Given the description of an element on the screen output the (x, y) to click on. 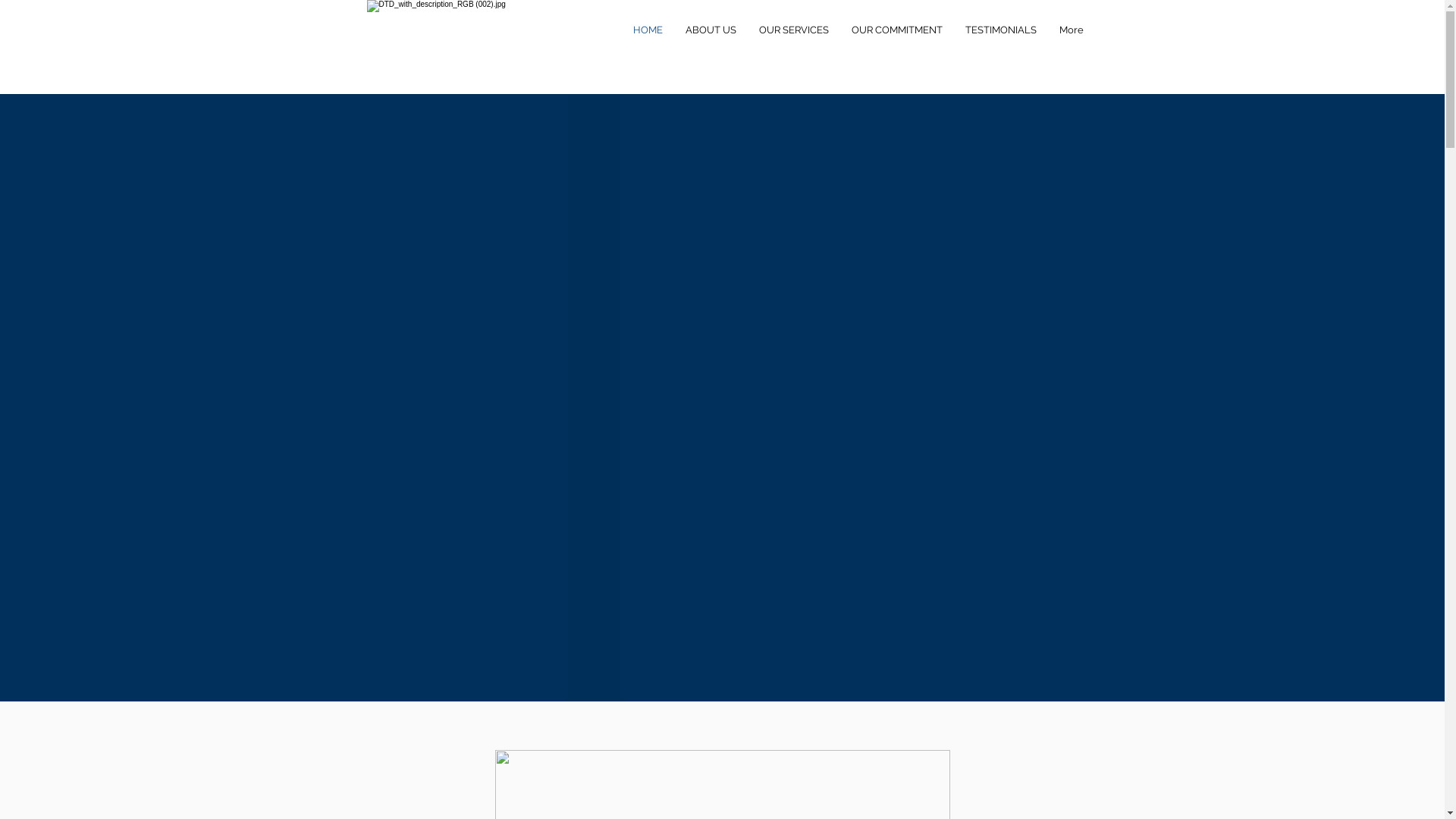
HOME Element type: text (647, 29)
ABOUT US Element type: text (709, 29)
TESTIMONIALS Element type: text (1000, 29)
OUR COMMITMENT Element type: text (896, 29)
OUR SERVICES Element type: text (793, 29)
